Given the description of an element on the screen output the (x, y) to click on. 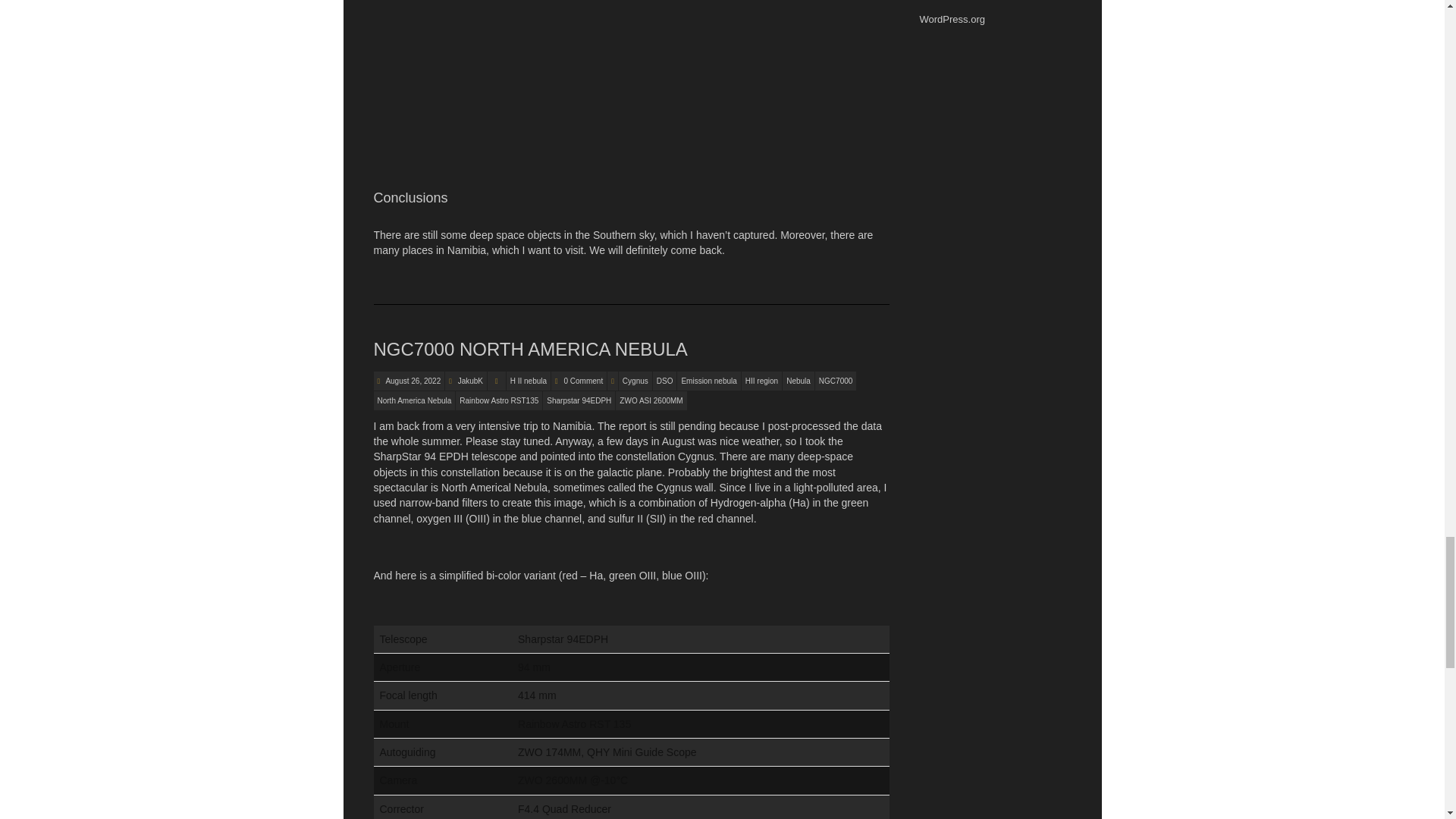
Category (496, 380)
NGC7000 North America Nebula (529, 348)
View all posts by JakubK (470, 380)
NGC7000 North America Nebula (412, 380)
